Given the description of an element on the screen output the (x, y) to click on. 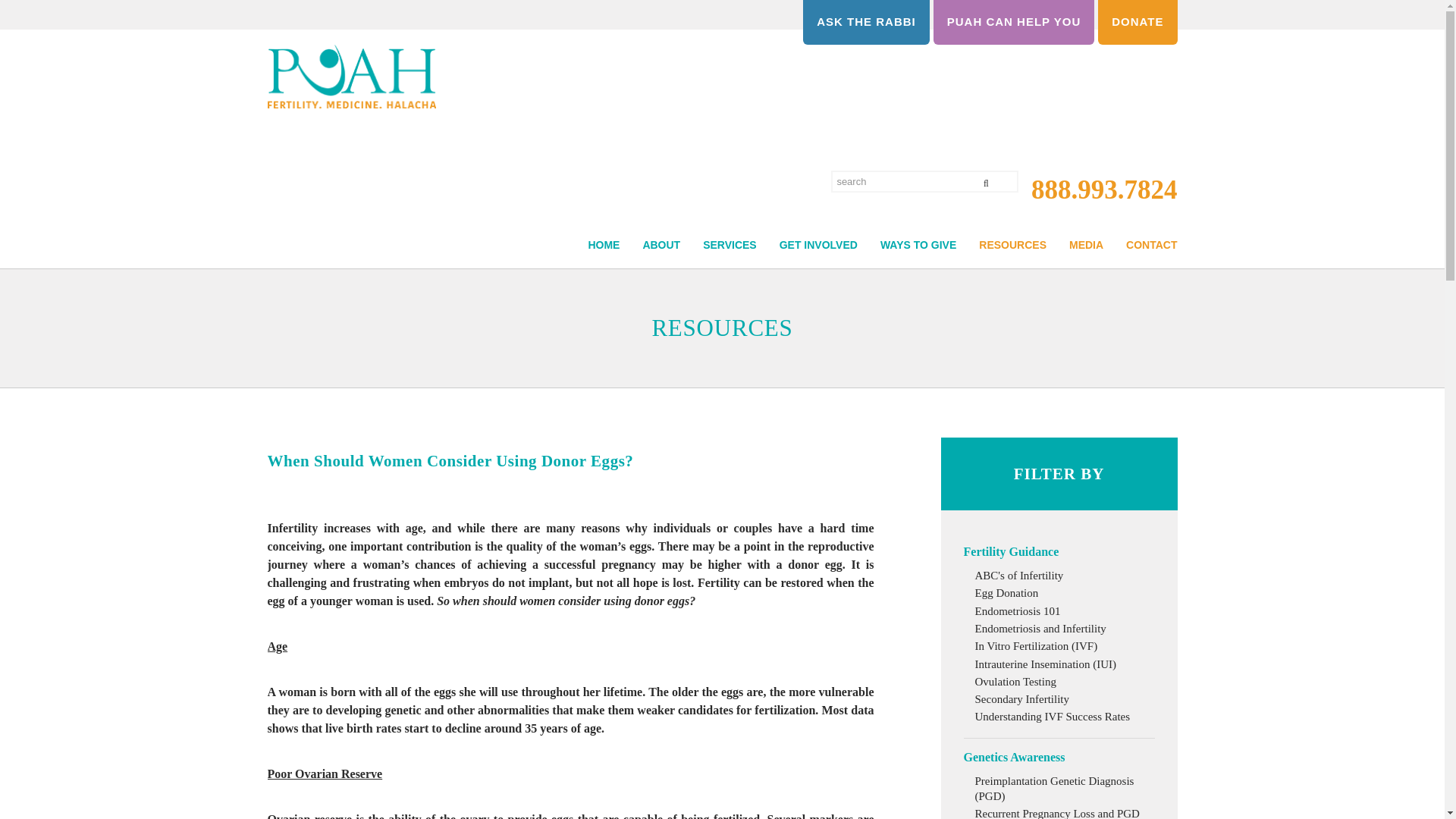
PUAH Services (718, 275)
GET INVOLVED (807, 275)
ASK THE RABBI (866, 22)
SERVICES (718, 275)
  888.993.7824 (1096, 194)
RESOURCES (1001, 275)
Donate (906, 275)
Get Involved with PUAH (807, 275)
DONATE (1136, 22)
WAYS TO GIVE (906, 275)
